Given the description of an element on the screen output the (x, y) to click on. 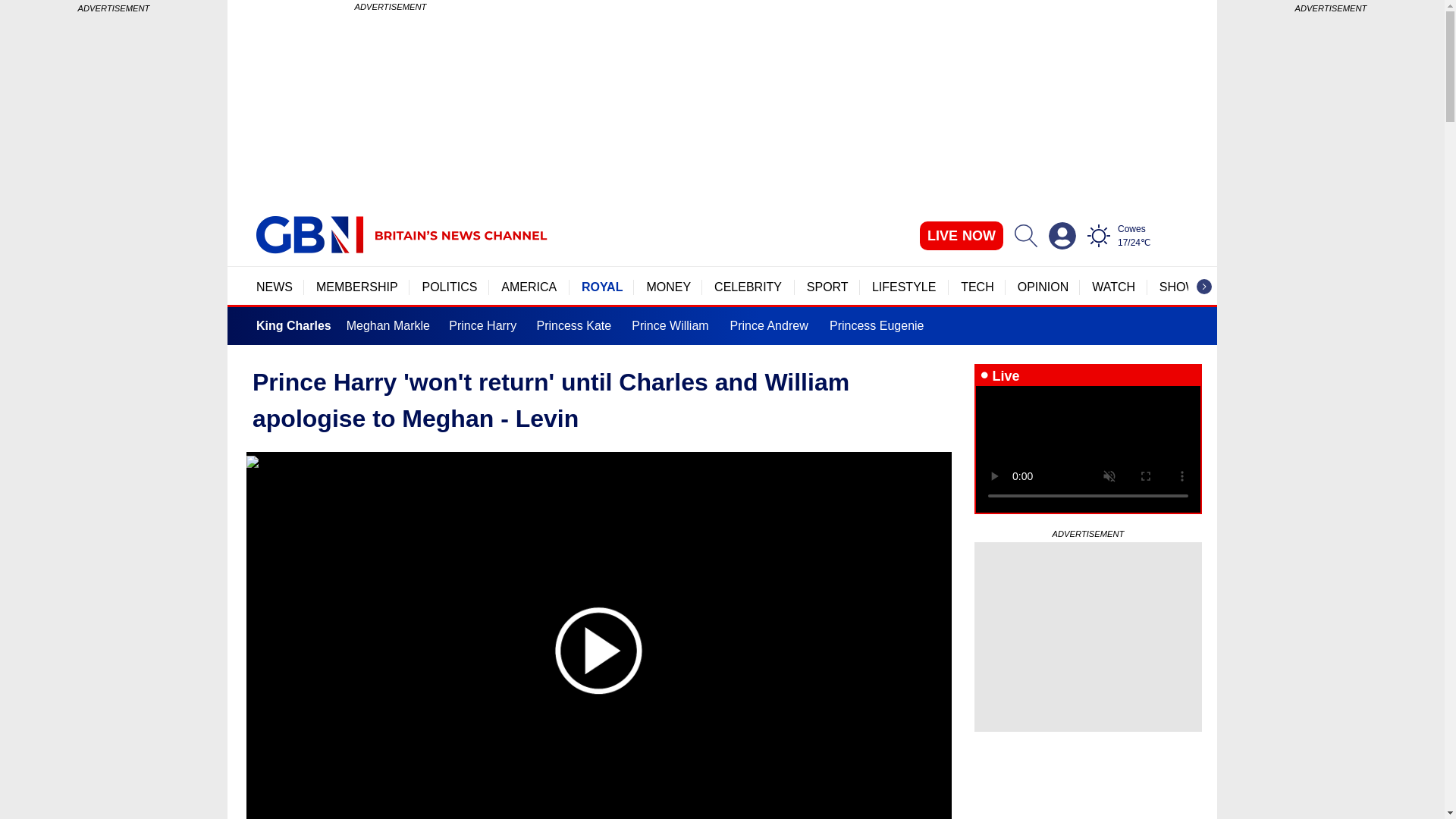
GBN Britain's News Channel (310, 235)
LIVE (961, 235)
Search (1025, 235)
